Given the description of an element on the screen output the (x, y) to click on. 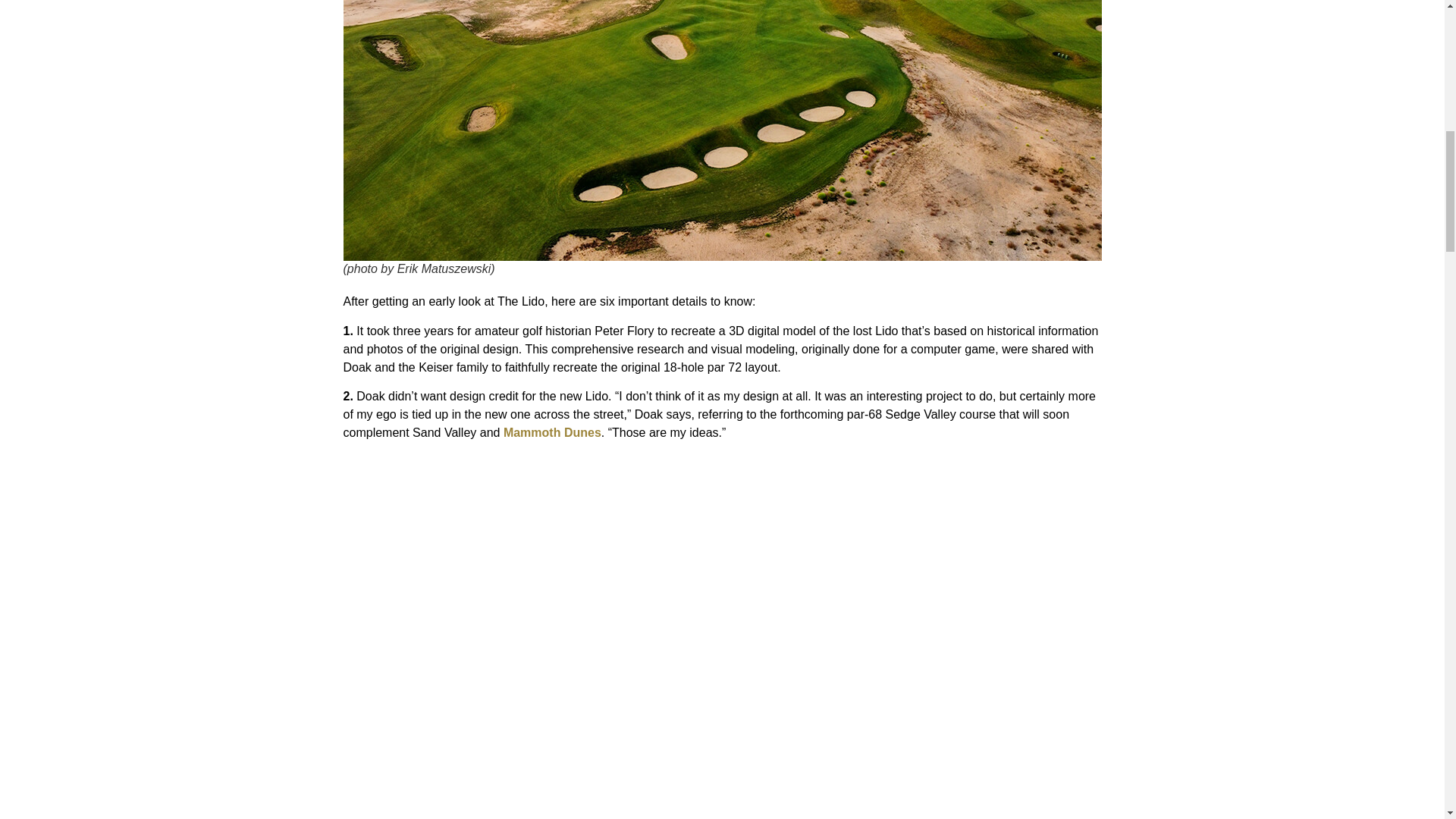
Mammoth Dunes (552, 431)
